Given the description of an element on the screen output the (x, y) to click on. 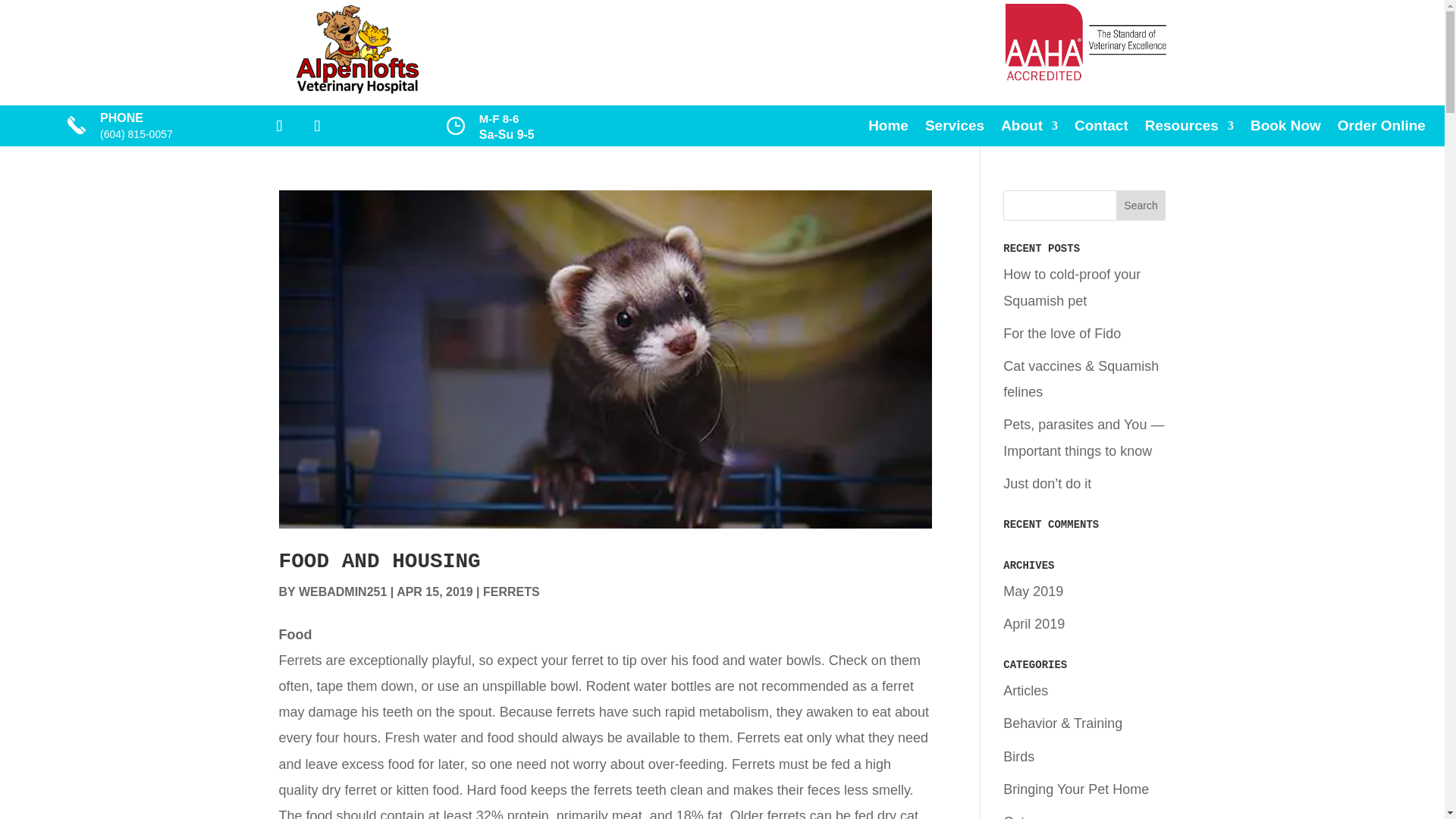
Follow on Instagram (317, 125)
Services (954, 128)
About (1029, 128)
Home (887, 128)
Posts by webadmin251 (342, 591)
Contact (1101, 128)
FOOD AND HOUSING (379, 561)
Order Online (1381, 128)
WEBADMIN251 (342, 591)
Resources (1188, 128)
Search (1141, 205)
FERRETS (511, 591)
Follow on Facebook (279, 125)
Book Now (1285, 128)
